Given the description of an element on the screen output the (x, y) to click on. 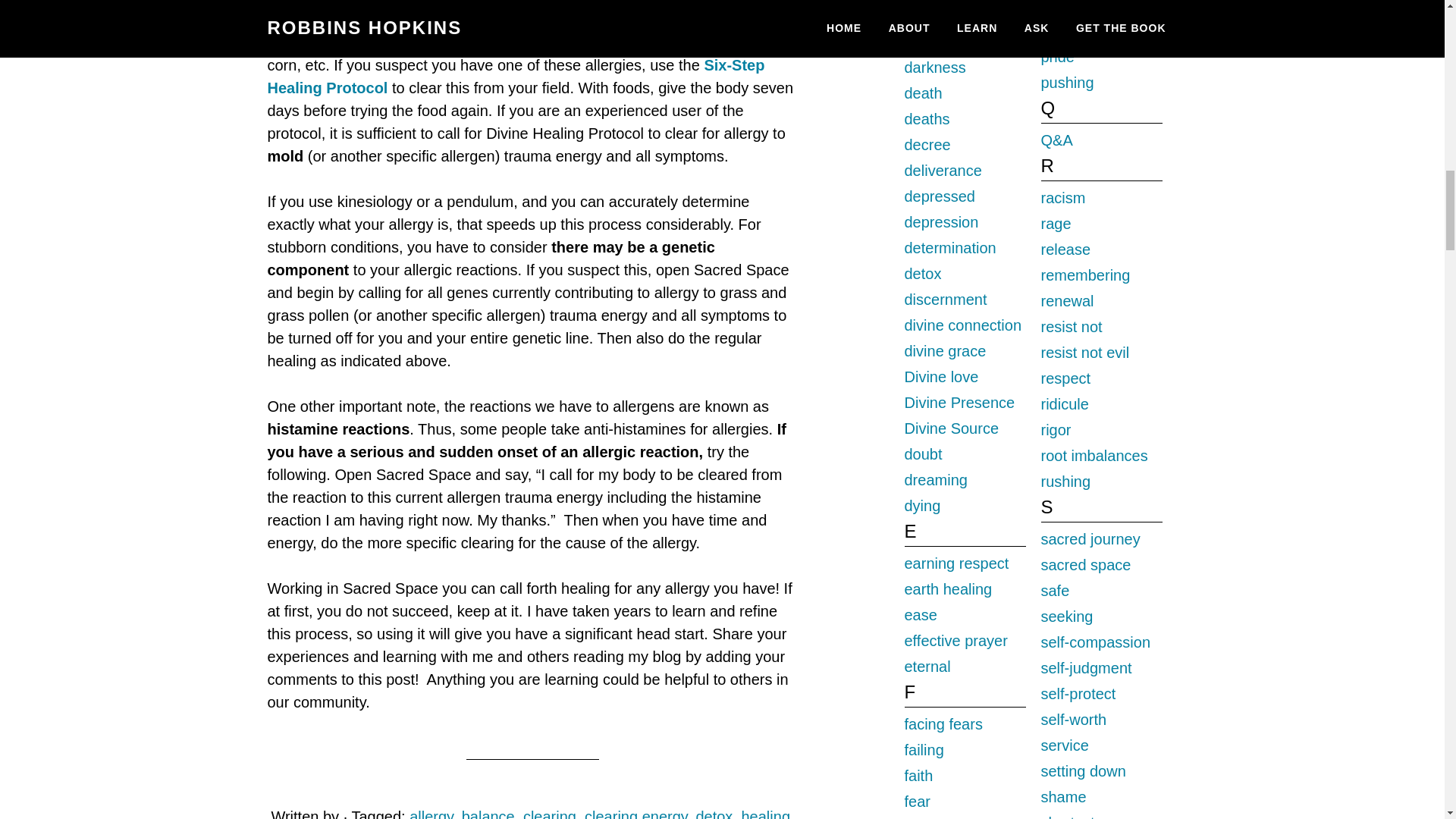
clearing energy (636, 813)
allergy (430, 813)
Six-Step Healing Protocol (515, 76)
detox (713, 813)
healing (765, 813)
clearing (549, 813)
balance (488, 813)
